Given the description of an element on the screen output the (x, y) to click on. 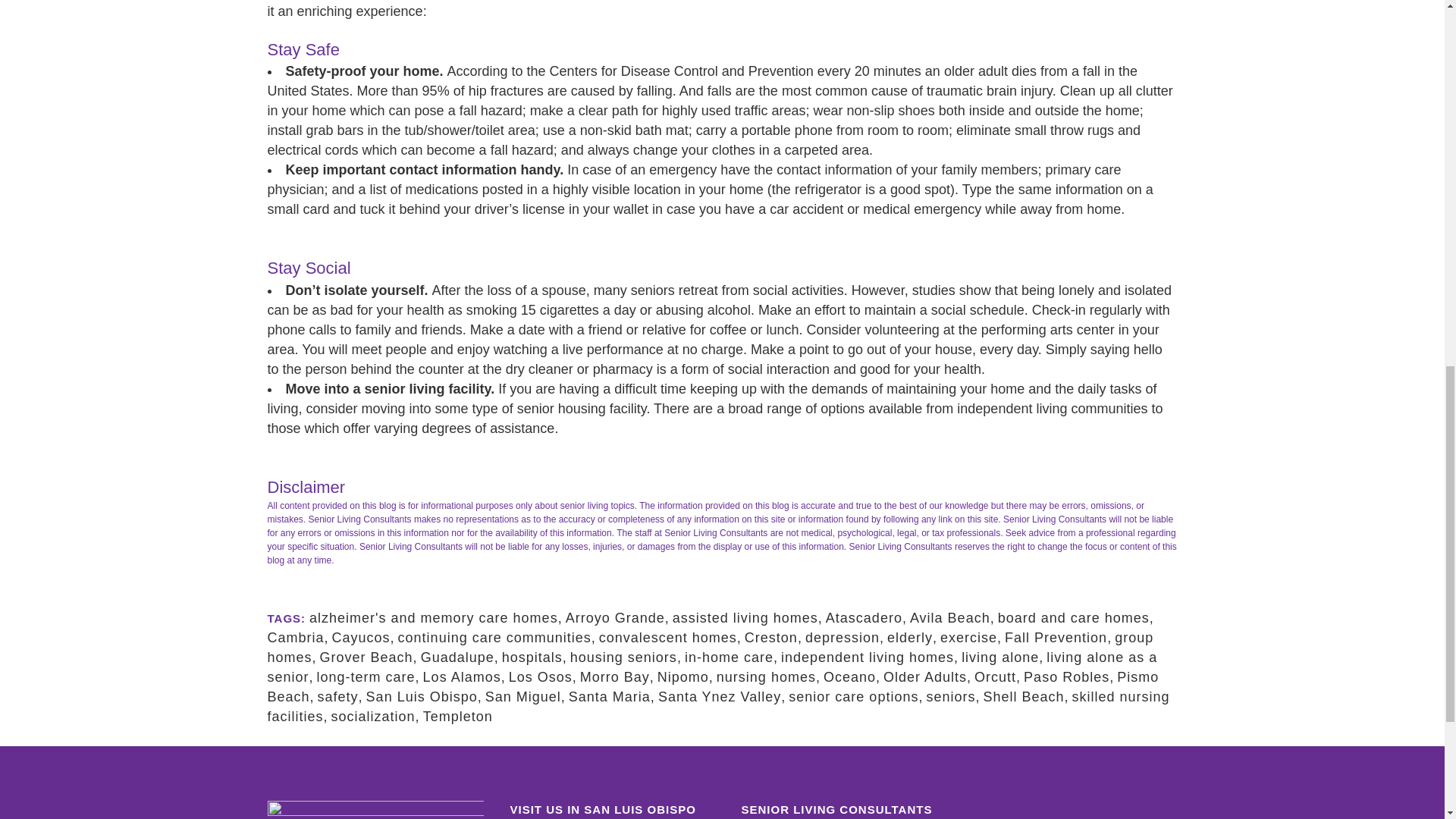
alzheimer's and memory care homes (432, 617)
Arroyo Grande (615, 617)
Page 15 (721, 502)
